Given the description of an element on the screen output the (x, y) to click on. 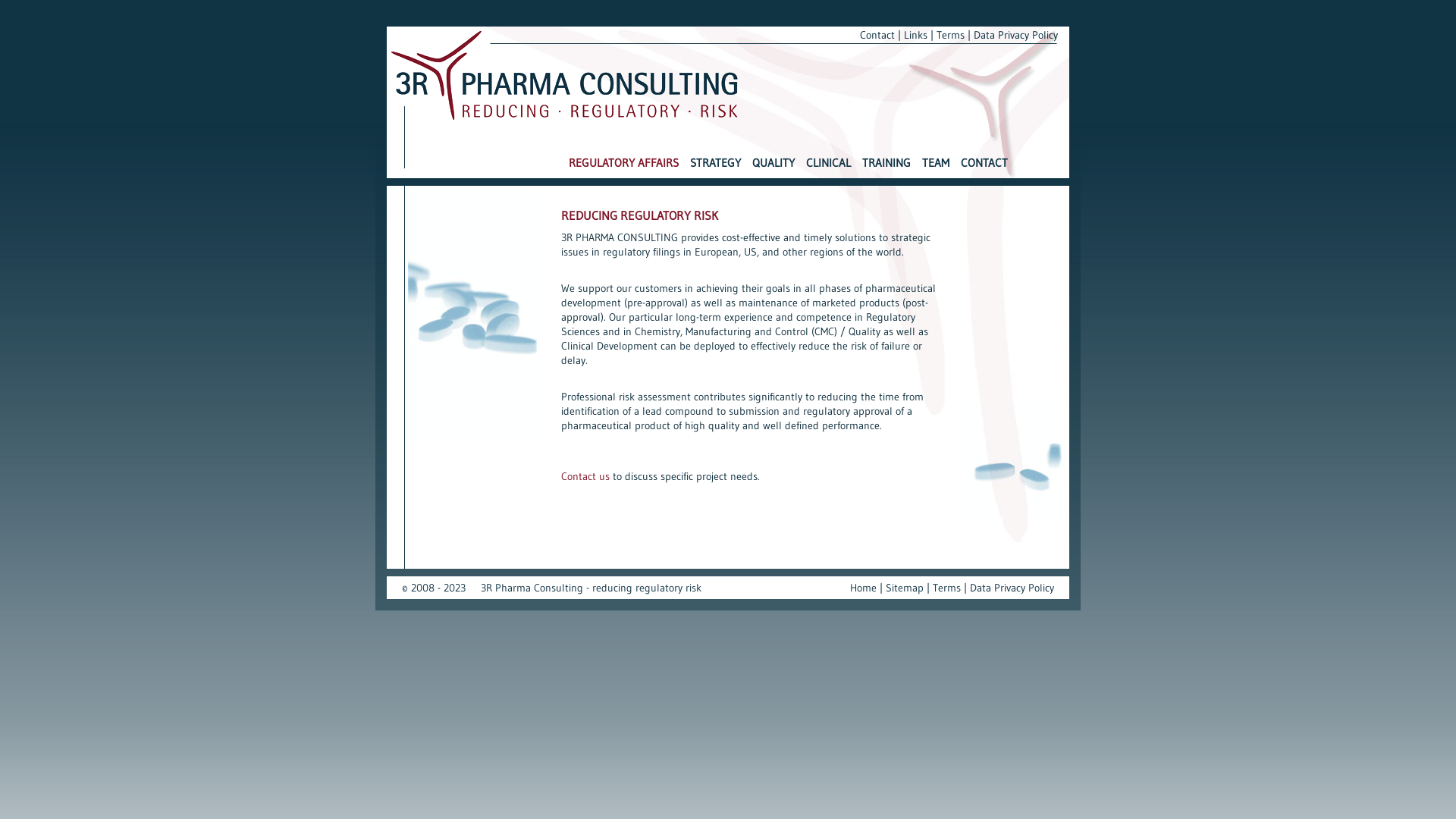
TEAM Element type: text (935, 168)
CLINICAL Element type: text (828, 168)
Terms Element type: text (950, 34)
Data Privacy Policy Element type: text (1015, 34)
SKIP NAVIGATION Element type: text (565, 159)
Contact us Element type: text (585, 476)
CONTACT Element type: text (983, 168)
TRAINING Element type: text (886, 168)
Sitemap Element type: text (904, 587)
Links Element type: text (915, 34)
STRATEGY Element type: text (715, 168)
Contact Element type: text (876, 34)
Home Element type: text (863, 587)
Terms Element type: text (946, 587)
QUALITY Element type: text (773, 168)
Data Privacy Policy Element type: text (1011, 587)
